Given the description of an element on the screen output the (x, y) to click on. 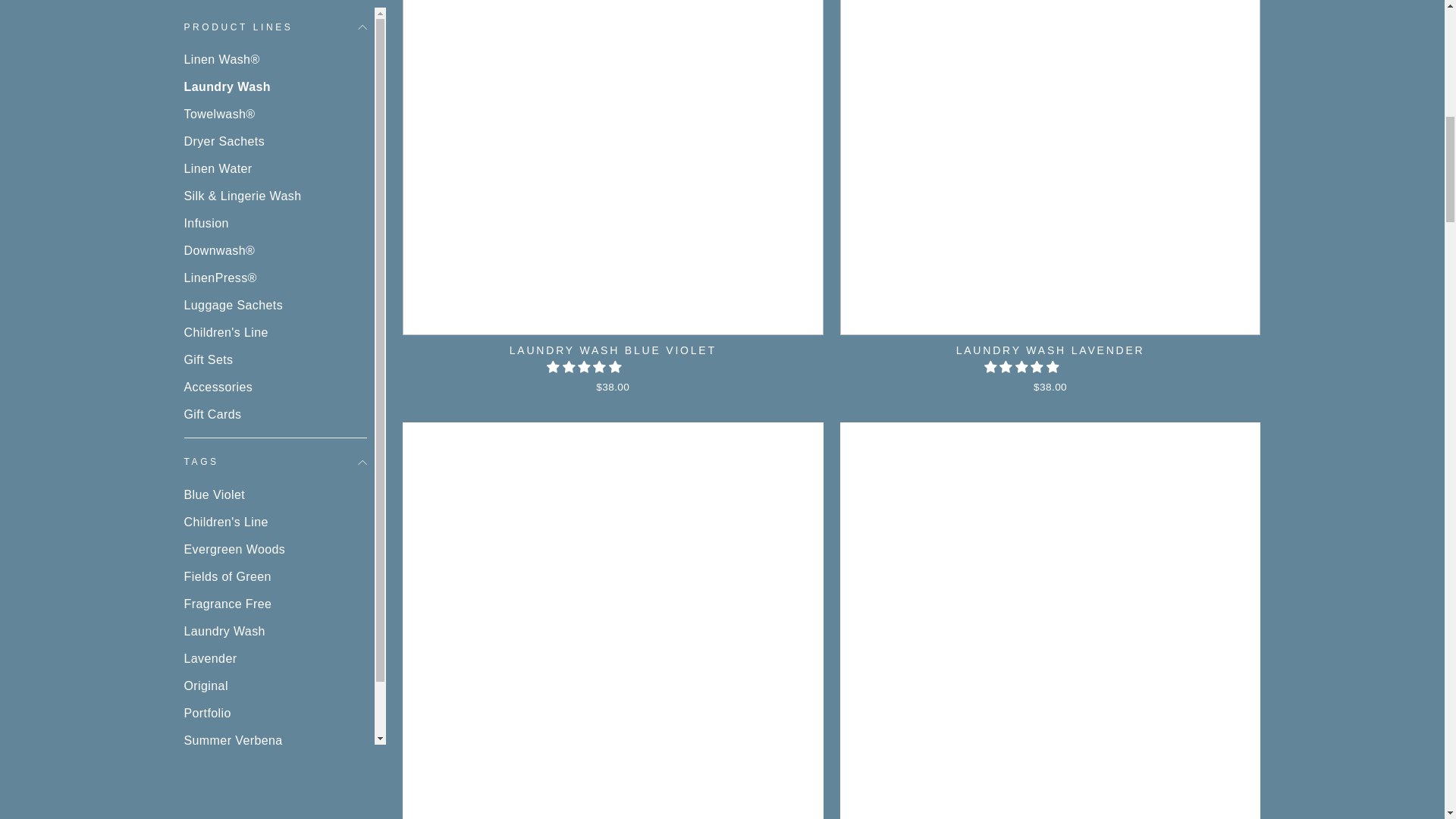
Show products matching tag Children's Line (274, 79)
Show products matching tag Fragrance Free (274, 161)
Show products matching tag Evergreen Woods (274, 107)
Show products matching tag Fields of Green (274, 134)
Show products matching tag Laundry Wash (274, 189)
Show products matching tag Blue Violet (274, 52)
